Given the description of an element on the screen output the (x, y) to click on. 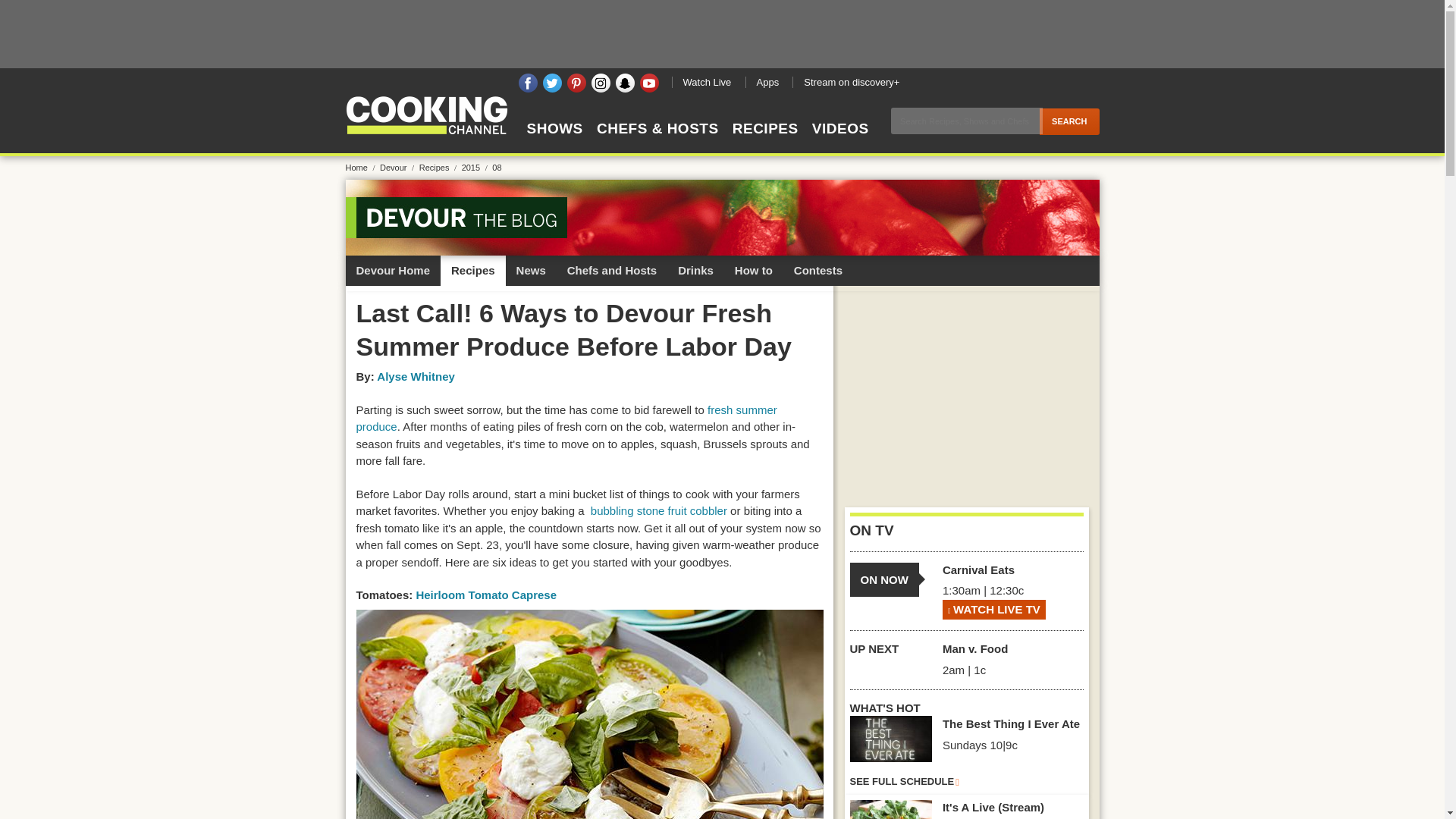
Watch Live (706, 81)
Heirloom Tomato Caprese (485, 594)
08 (496, 166)
RECIPES (764, 141)
Contests (818, 269)
SHOWS (554, 141)
Recipes (473, 269)
How to (753, 269)
Follow us on YouTube (649, 82)
2015 (475, 166)
Devour Home (393, 269)
bubbling stone fruit cobbler (658, 510)
Drinks (694, 269)
Follow us on Twitter (552, 82)
VIDEOS (840, 141)
